Given the description of an element on the screen output the (x, y) to click on. 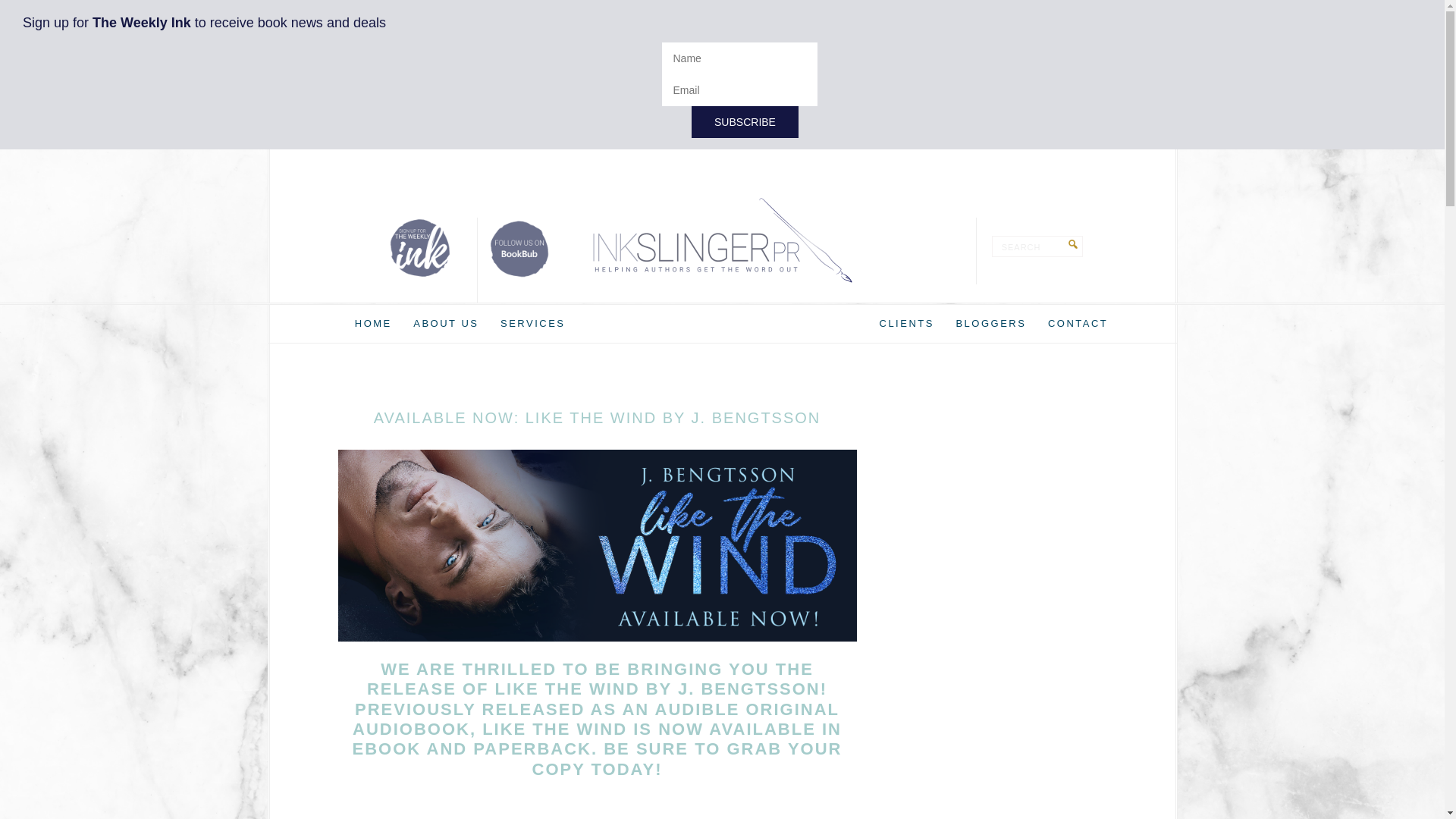
BLOGGERS (990, 323)
INKSLINGER PR (722, 240)
HOME (373, 323)
SERVICES (533, 323)
CLIENTS (906, 323)
CONTACT (1077, 323)
ABOUT US (445, 323)
